Given the description of an element on the screen output the (x, y) to click on. 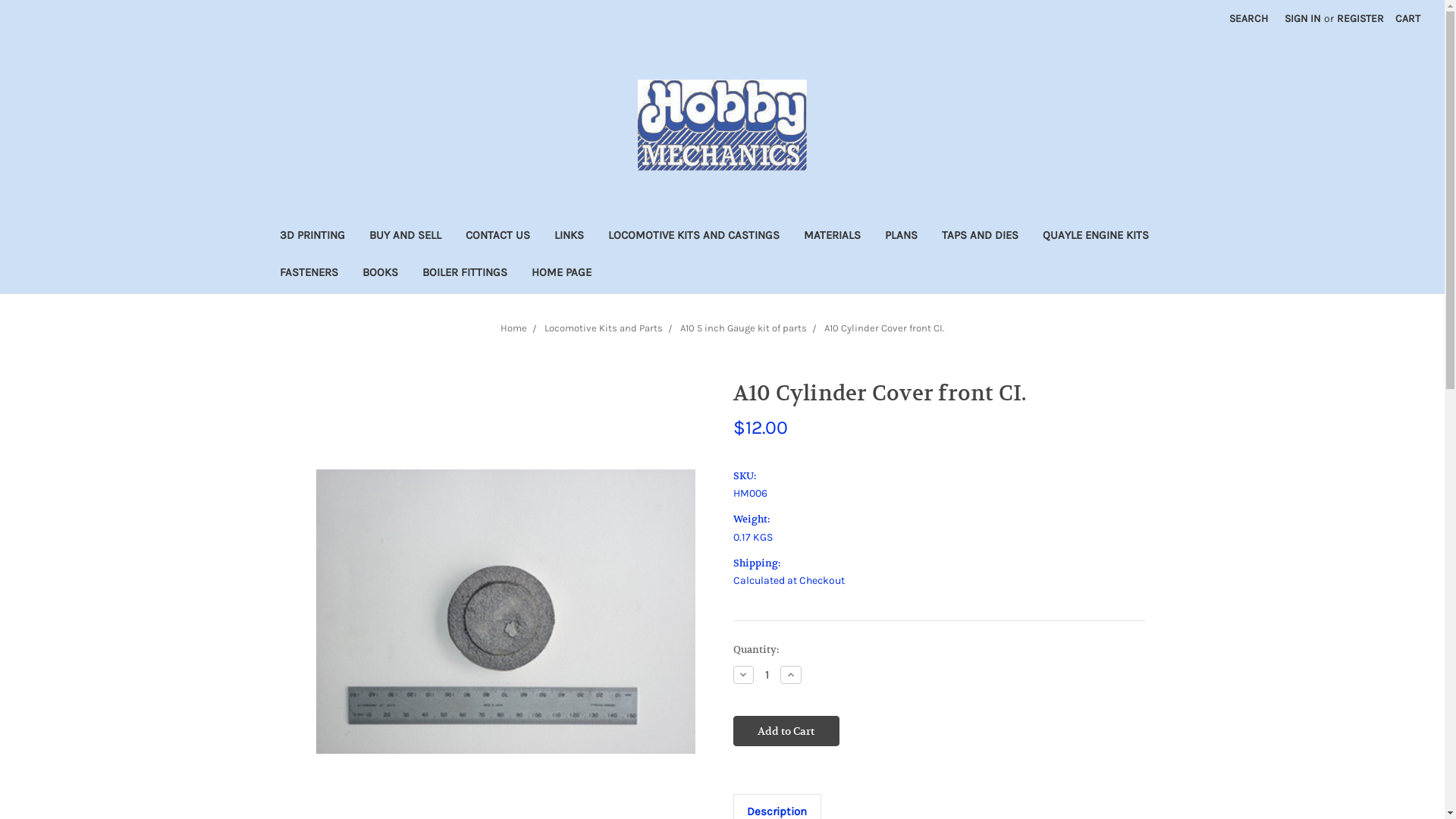
CART Element type: text (1407, 18)
SIGN IN Element type: text (1302, 18)
3D PRINTING Element type: text (311, 236)
HOME PAGE Element type: text (560, 273)
LOCOMOTIVE KITS AND CASTINGS Element type: text (693, 236)
FASTENERS Element type: text (307, 273)
Locomotive Kits and Parts Element type: text (603, 327)
LINKS Element type: text (568, 236)
Increase Quantity: Element type: text (790, 674)
MATERIALS Element type: text (831, 236)
Decrease Quantity: Element type: text (742, 674)
Home Element type: text (513, 327)
BUY AND SELL Element type: text (404, 236)
REGISTER Element type: text (1360, 18)
CONTACT US Element type: text (497, 236)
Add to Cart Element type: text (785, 730)
A10 5 inch Gauge kit of parts Element type: text (743, 327)
QUAYLE ENGINE KITS Element type: text (1094, 236)
BOOKS Element type: text (380, 273)
SEARCH Element type: text (1248, 18)
TAPS AND DIES Element type: text (979, 236)
BOILER FITTINGS Element type: text (463, 273)
A10 Cylinder Cover front CI. Element type: hover (504, 611)
PLANS Element type: text (900, 236)
Hobby Mechanics Element type: hover (721, 124)
